Given the description of an element on the screen output the (x, y) to click on. 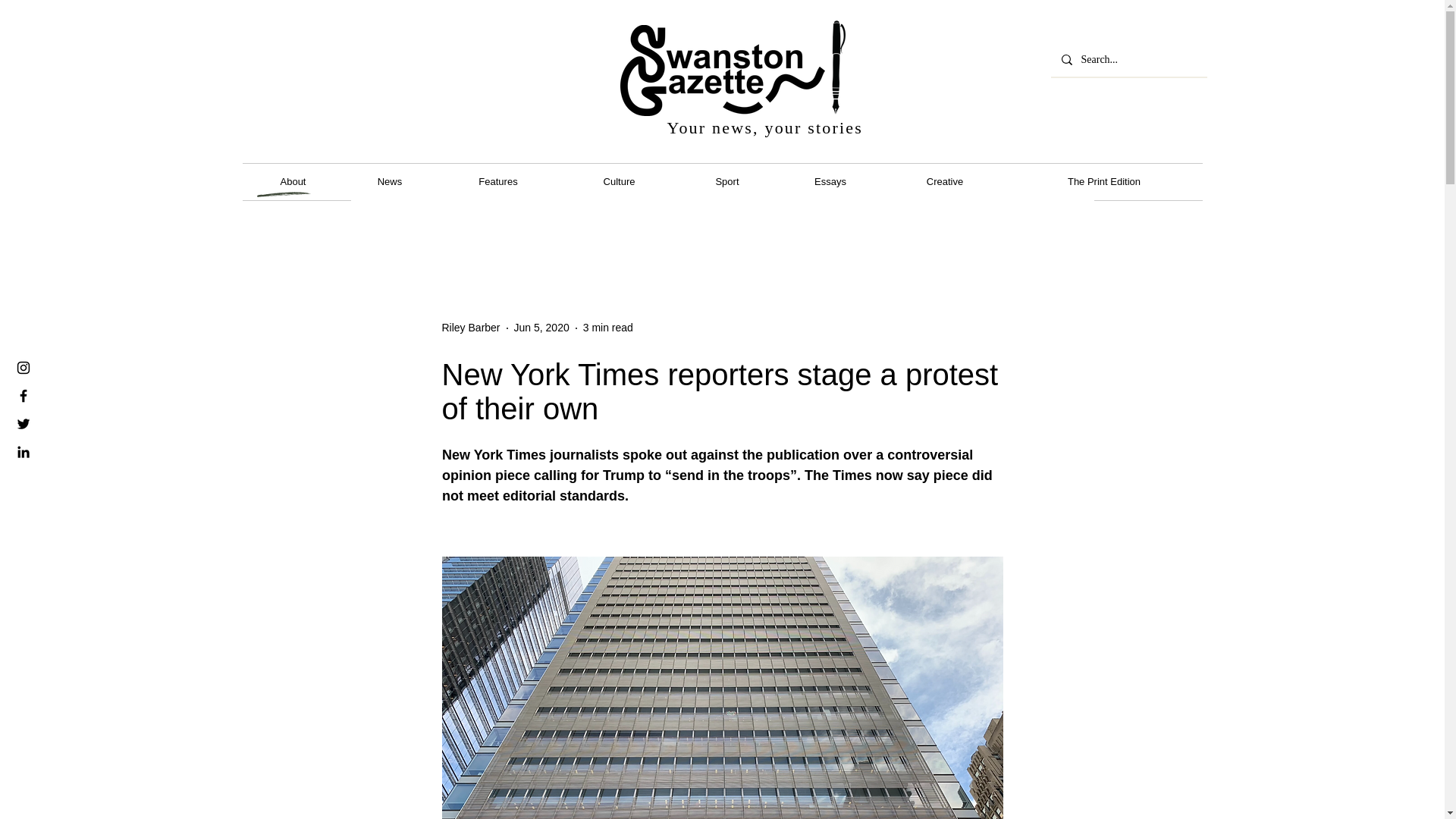
Sport (727, 181)
3 min read (608, 327)
The Print Edition (1104, 181)
About (293, 181)
Essays (829, 181)
News (389, 181)
Creative (944, 181)
Features (497, 181)
Jun 5, 2020 (541, 327)
Riley Barber (470, 327)
Riley Barber (470, 327)
Culture (619, 181)
